Given the description of an element on the screen output the (x, y) to click on. 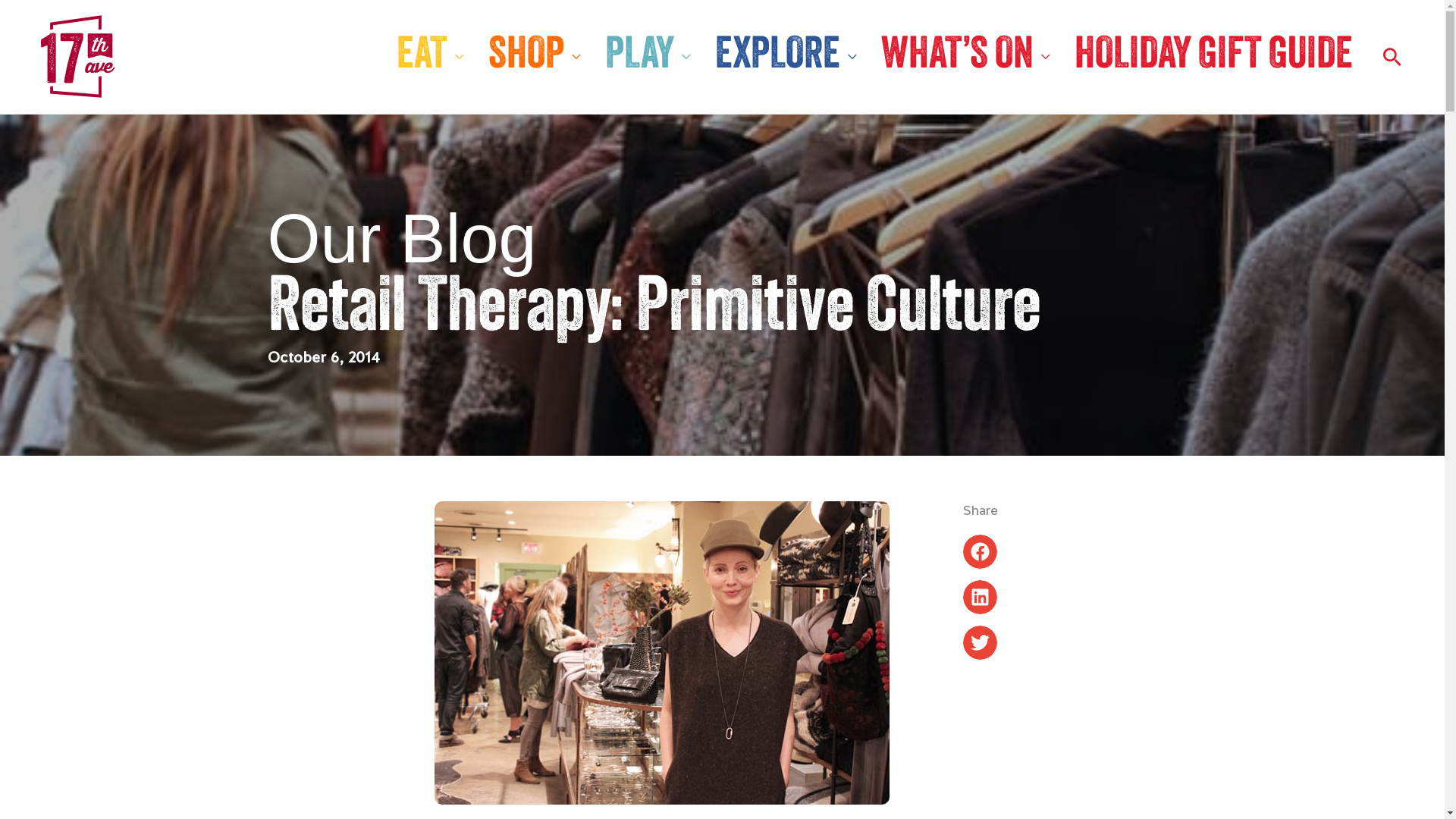
Search Element type: text (1392, 56)
HOLIDAY GIFT GUIDE Element type: text (1213, 56)
EXPLORE Element type: text (785, 56)
PLAY Element type: text (647, 56)
EAT Element type: text (430, 56)
SHOP Element type: text (534, 56)
